Given the description of an element on the screen output the (x, y) to click on. 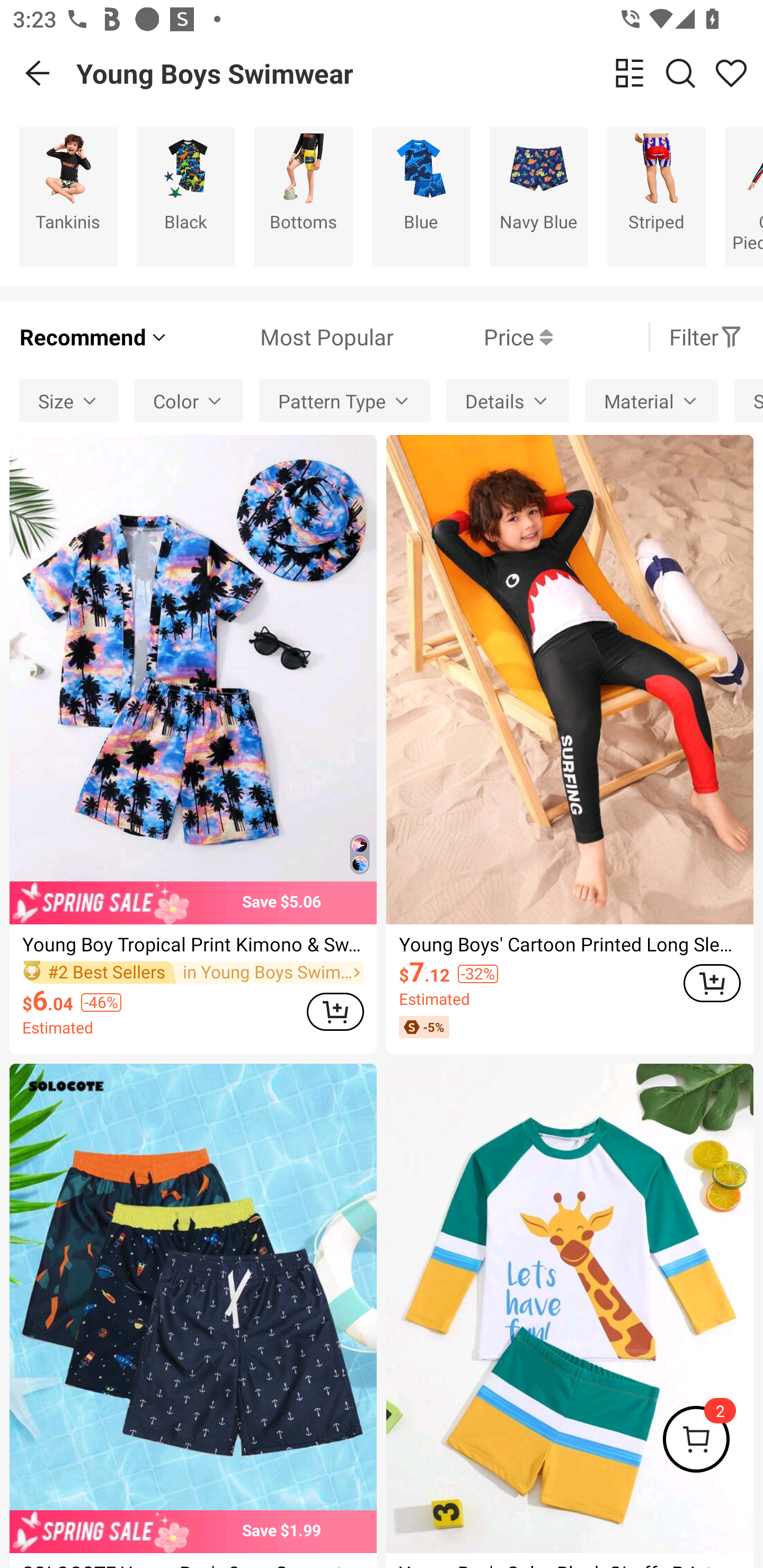
Young Boys Swimwear change view Search Share (419, 72)
change view (629, 72)
Search (679, 72)
Share (730, 72)
Tankinis (68, 196)
Black (185, 196)
Bottoms (303, 196)
Blue (421, 196)
Navy Blue (538, 196)
Striped (656, 196)
Recommend (94, 336)
Most Popular (280, 336)
Price (472, 336)
Filter (705, 336)
Size (68, 400)
Color (188, 400)
Pattern Type (344, 400)
Details (507, 400)
Material (651, 400)
#2 Best Sellers in Young Boys Swimwear (192, 971)
ADD TO CART (711, 982)
ADD TO CART (334, 1011)
